Given the description of an element on the screen output the (x, y) to click on. 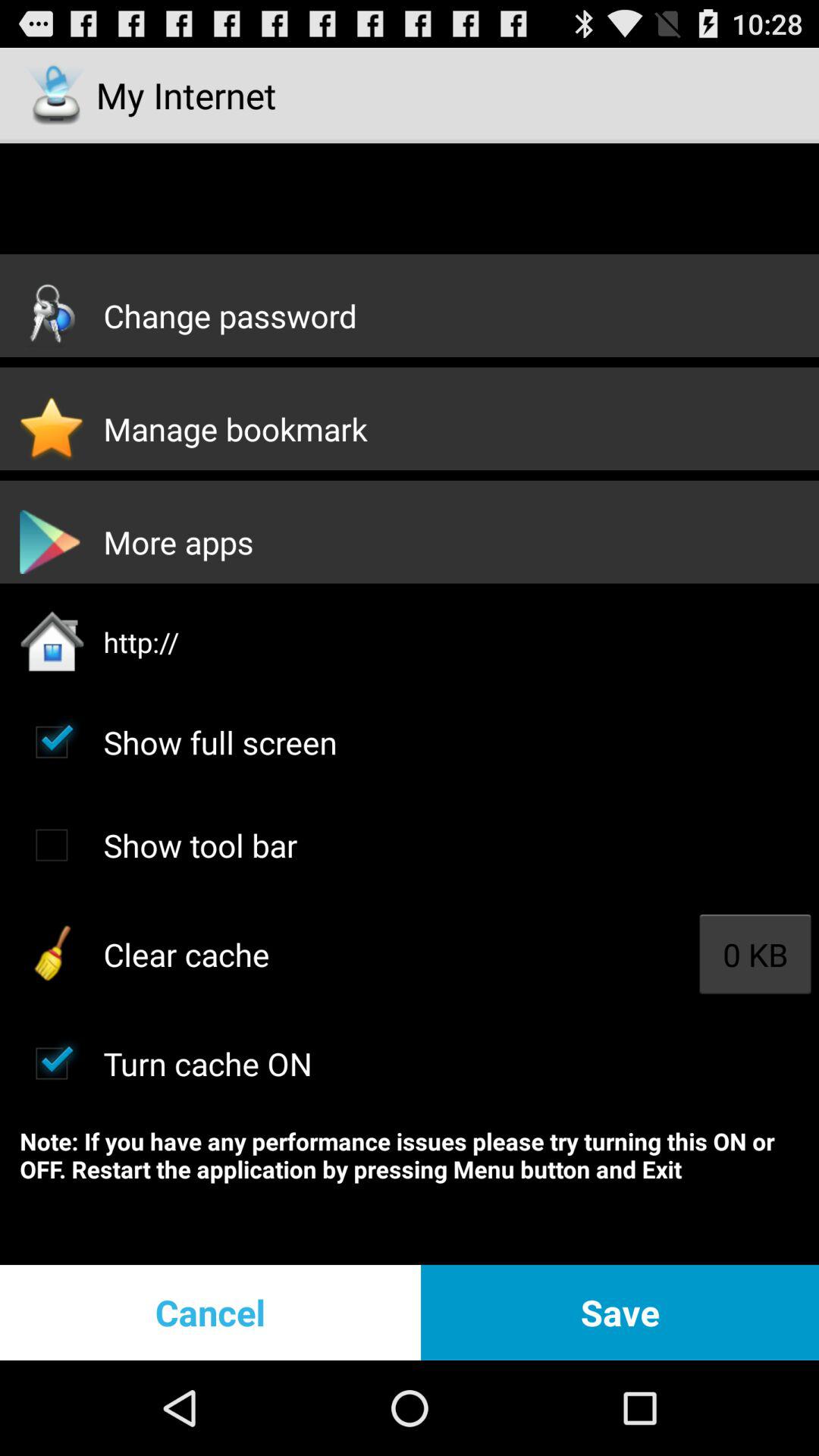
turn on (51, 1063)
